Given the description of an element on the screen output the (x, y) to click on. 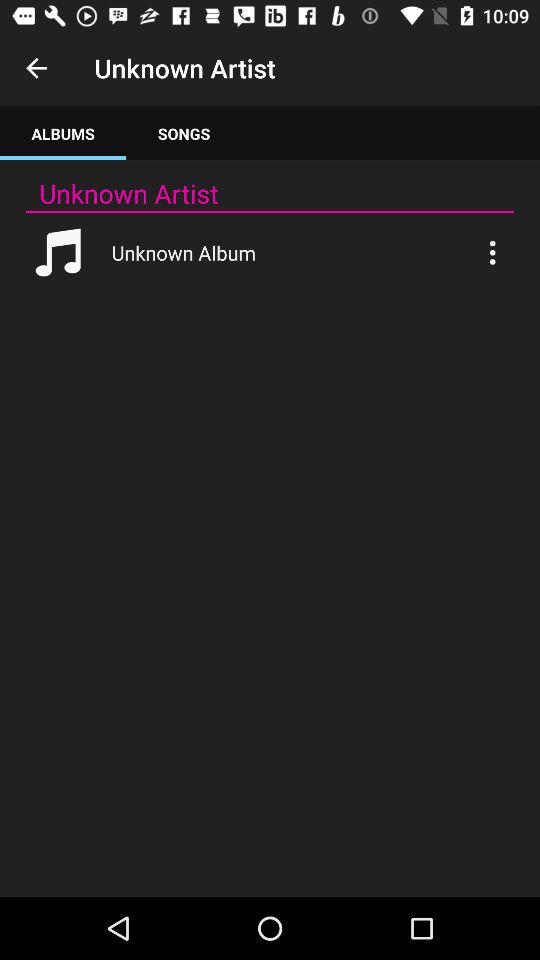
turn on the item above unknown artist icon (63, 133)
